Given the description of an element on the screen output the (x, y) to click on. 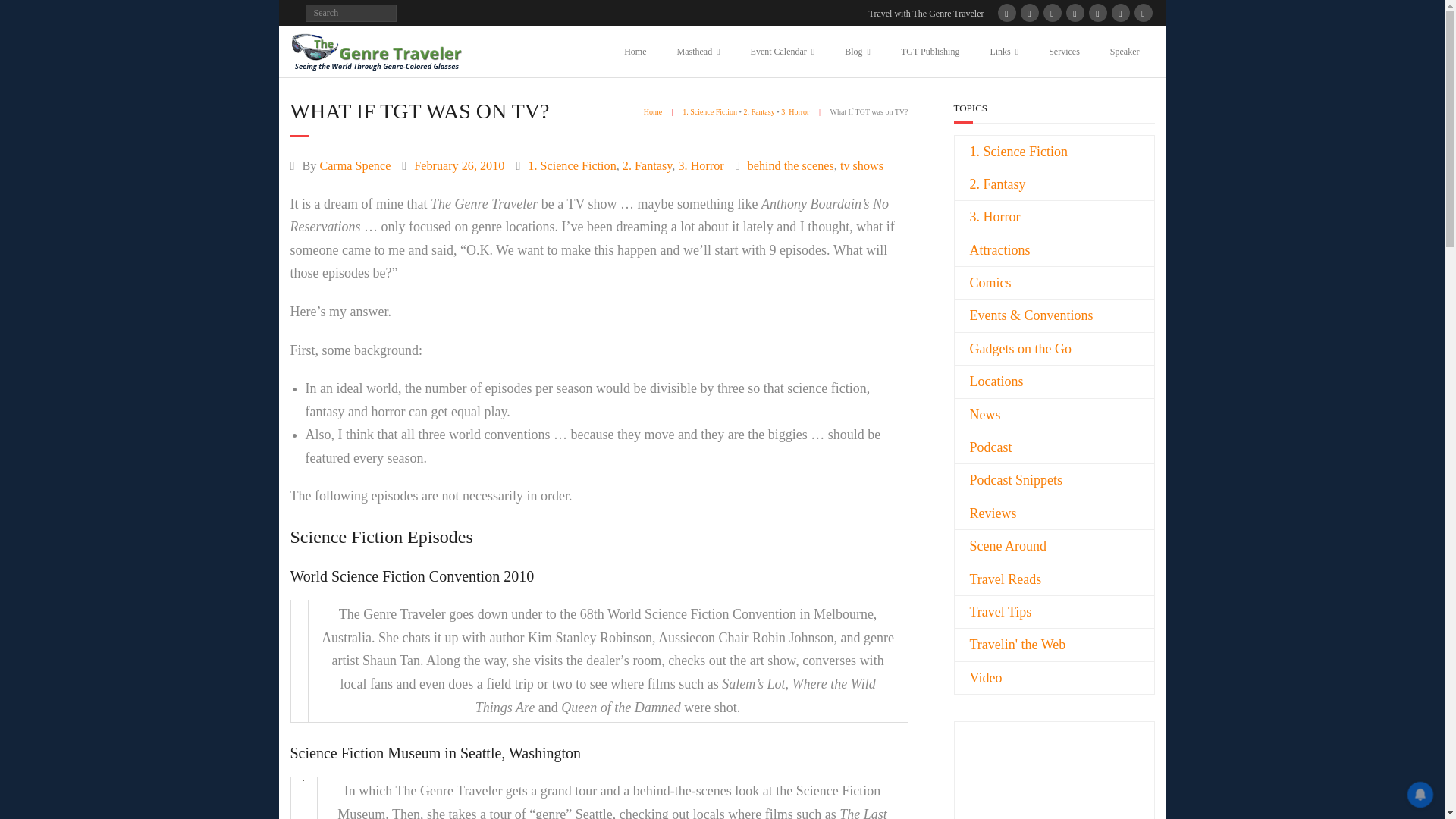
Event Calendar (782, 50)
Masthead (698, 50)
Blog (857, 50)
Search (24, 13)
Advertisement (1014, 790)
View all posts by Carma Spence (354, 165)
TGT Publishing (929, 50)
Links (1003, 50)
Home (634, 50)
What If TGT was on TV? (458, 165)
